Given the description of an element on the screen output the (x, y) to click on. 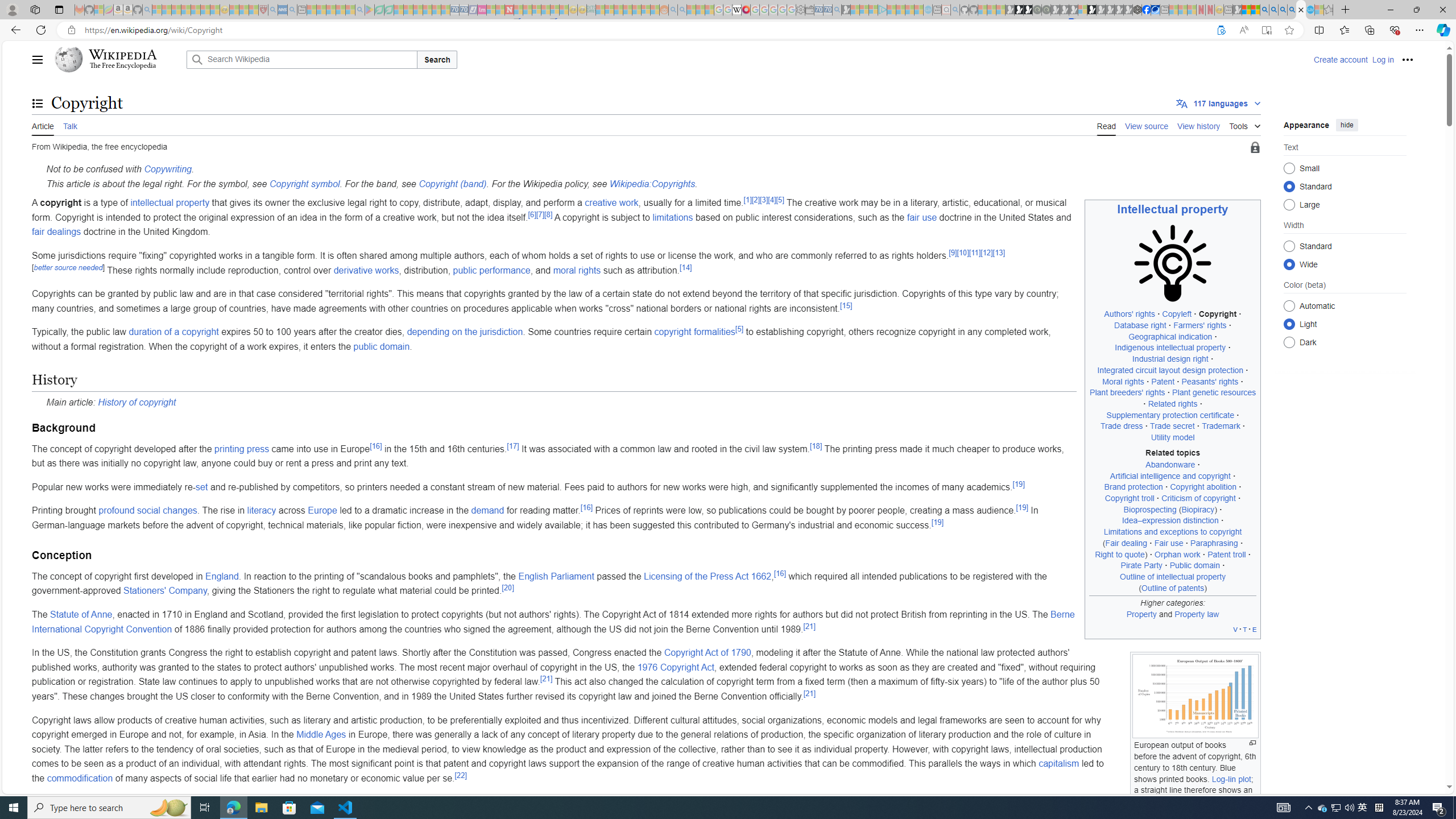
(Biopiracy) (1197, 509)
Fair use (1168, 542)
Copyright Act of 1790 (707, 652)
Orphan work (1177, 554)
Stationers' Company (164, 590)
Peasants' rights (1209, 381)
MSN - Sleeping (1236, 9)
Middle Ages (321, 734)
[9] (952, 252)
